Given the description of an element on the screen output the (x, y) to click on. 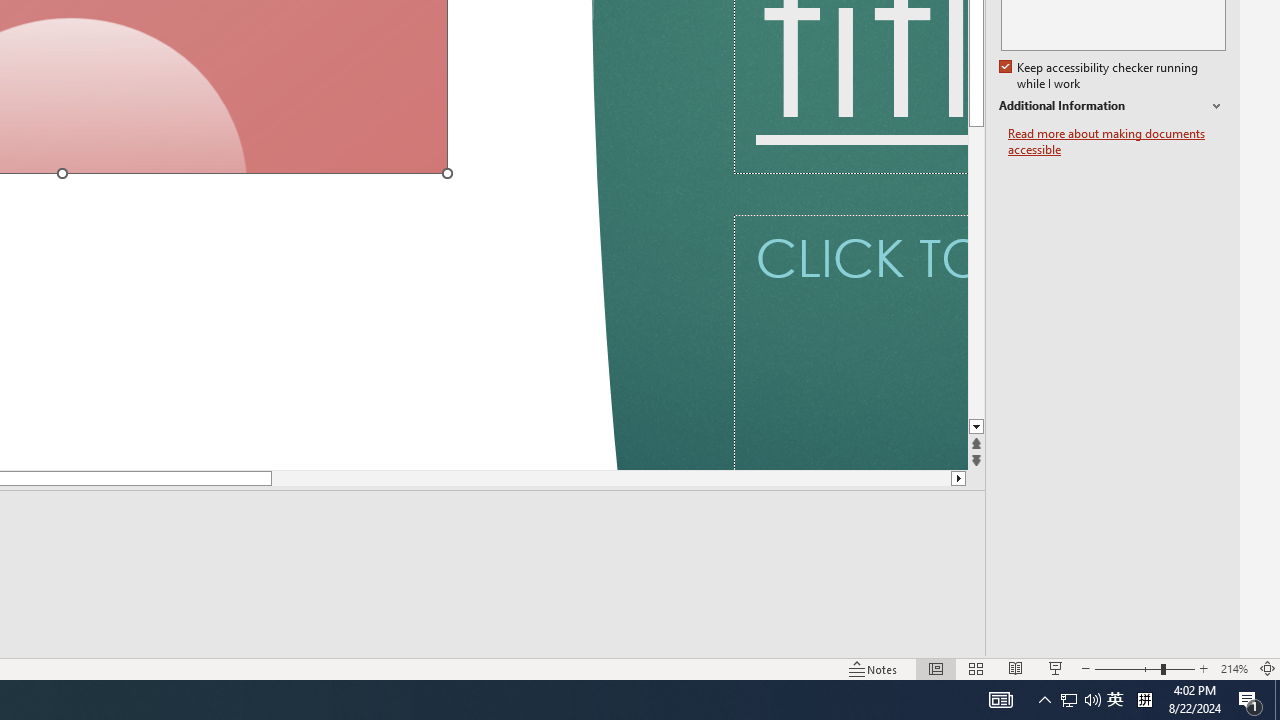
Additional Information (1112, 106)
Zoom 214% (1234, 668)
Read more about making documents accessible (1117, 142)
Line down (976, 427)
Keep accessibility checker running while I work (1099, 76)
Subtitle TextBox (850, 342)
